Given the description of an element on the screen output the (x, y) to click on. 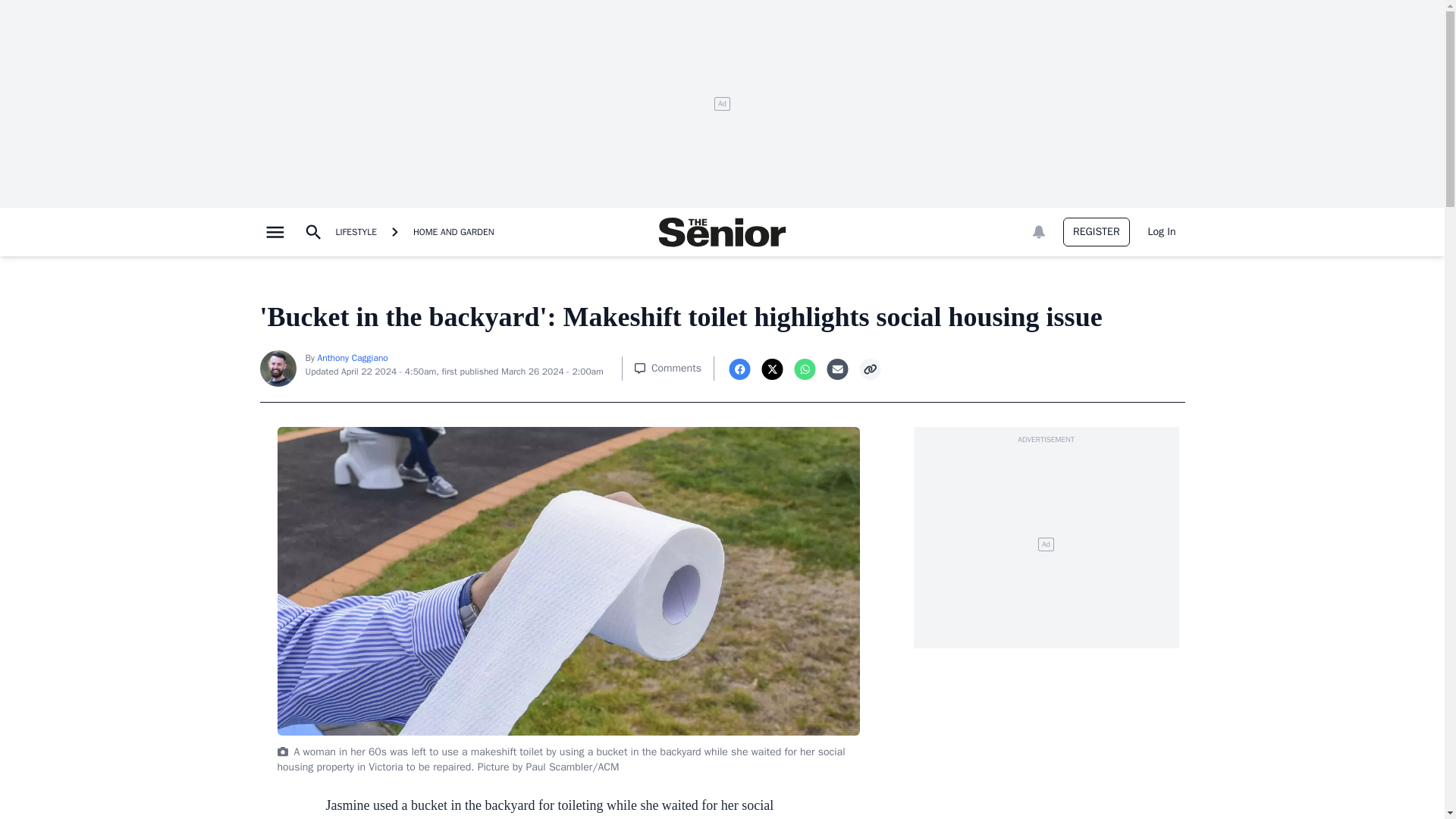
LIFESTYLE (355, 232)
REGISTER (1095, 231)
HOME AND GARDEN (453, 232)
Log In (1161, 231)
